Given the description of an element on the screen output the (x, y) to click on. 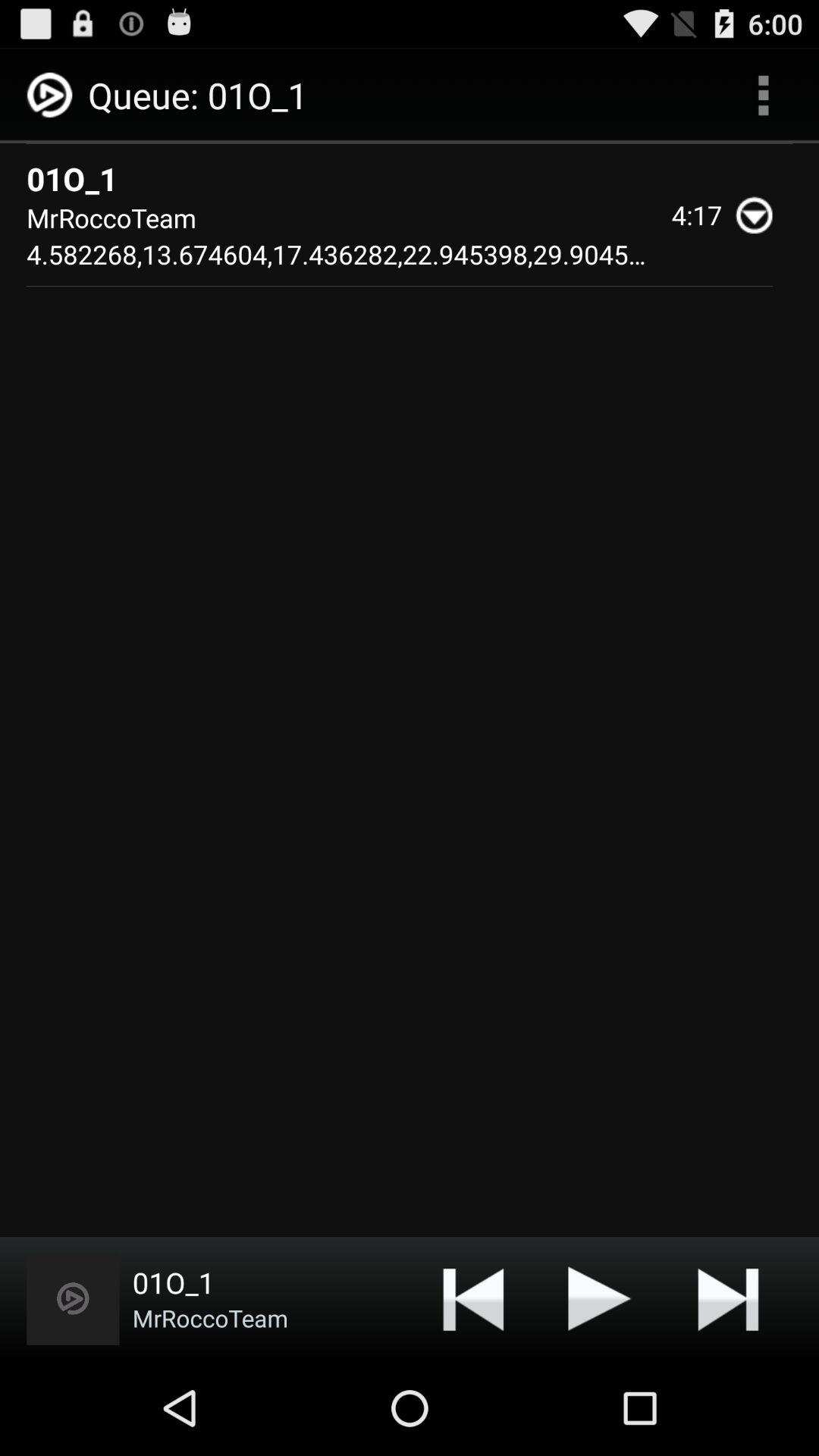
turn off the item below mrroccoteam 4 582268 (472, 1298)
